Given the description of an element on the screen output the (x, y) to click on. 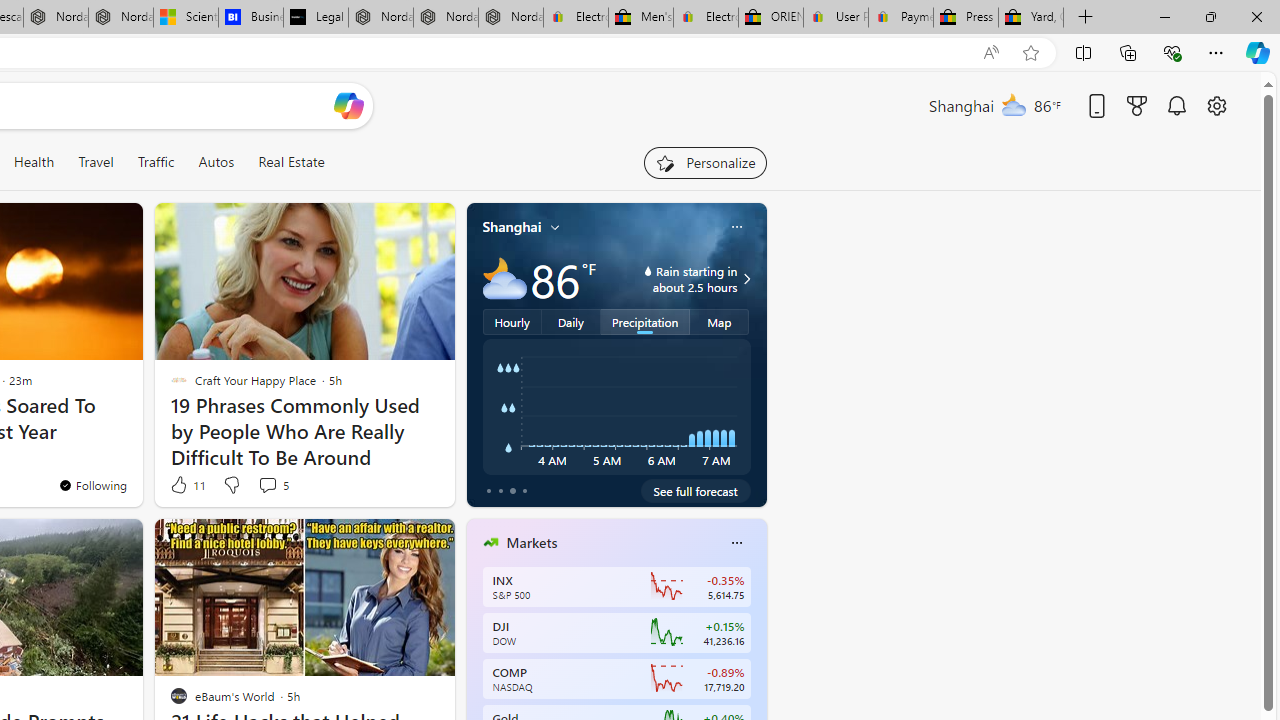
Electronics, Cars, Fashion, Collectibles & More | eBay (706, 17)
Yard, Garden & Outdoor Living (1030, 17)
Mostly cloudy (504, 278)
tab-2 (511, 490)
Precipitation (645, 321)
Press Room - eBay Inc. (966, 17)
You're following MSNBC (390, 490)
Autos (215, 161)
Payments Terms of Use | eBay.com (901, 17)
